Given the description of an element on the screen output the (x, y) to click on. 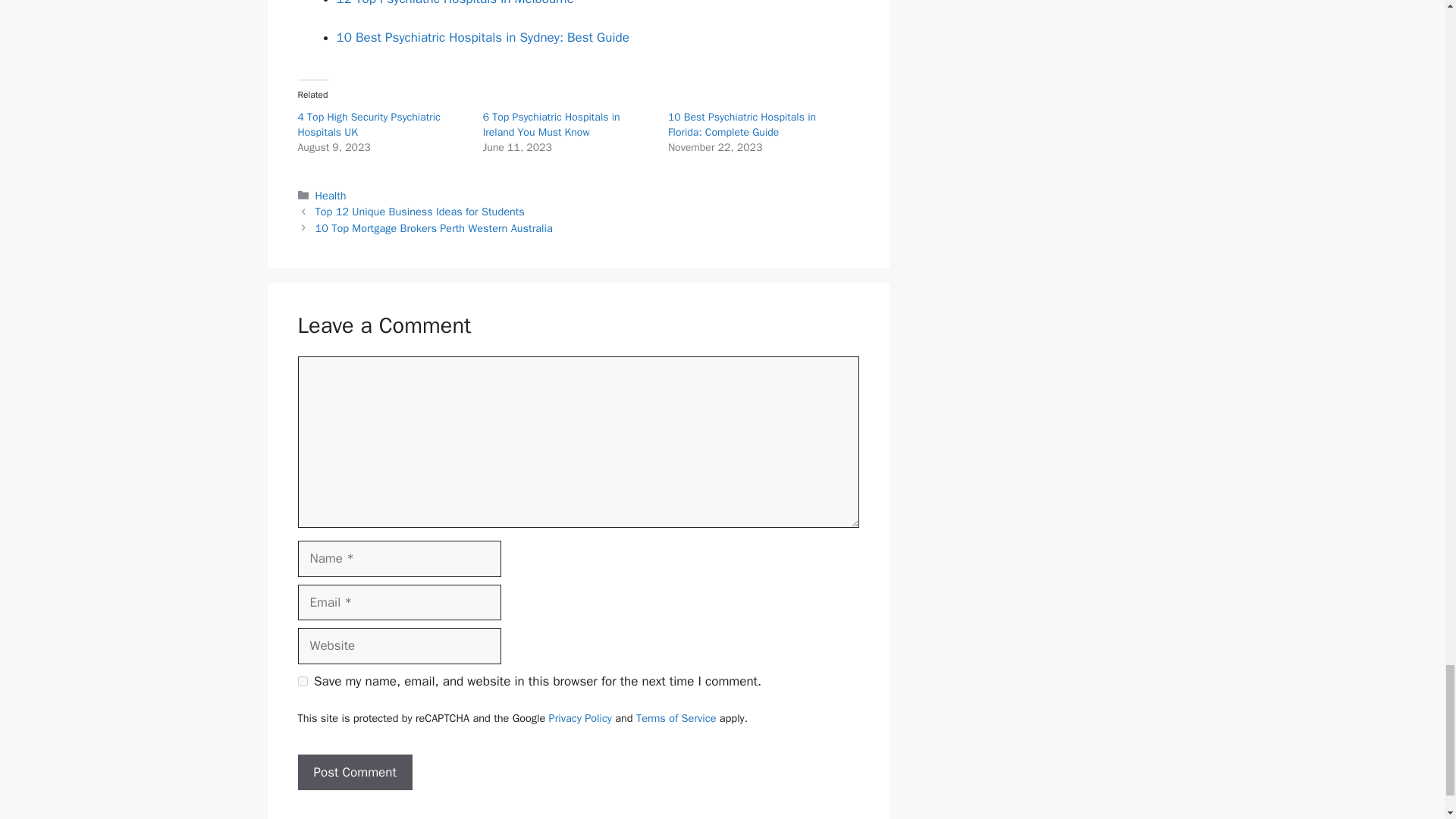
12 Top Psychiatric Hospitals in Melbourne (454, 3)
Post Comment (354, 772)
10 Best Psychiatric Hospitals in Florida: Complete Guide (741, 124)
10 Best Psychiatric Hospitals in Sydney: Best Guide (482, 37)
4 Top High Security Psychiatric Hospitals UK (368, 124)
6 Top Psychiatric Hospitals in Ireland You Must Know (551, 124)
Health (330, 195)
Top 12 Unique Business Ideas for Students (419, 211)
Privacy Policy (579, 717)
yes (302, 681)
4 Top High Security Psychiatric Hospitals UK (368, 124)
Post Comment (354, 772)
Terms of Service (676, 717)
6 Top Psychiatric Hospitals in Ireland You Must Know (551, 124)
10 Top Mortgage Brokers Perth Western Australia (434, 228)
